Given the description of an element on the screen output the (x, y) to click on. 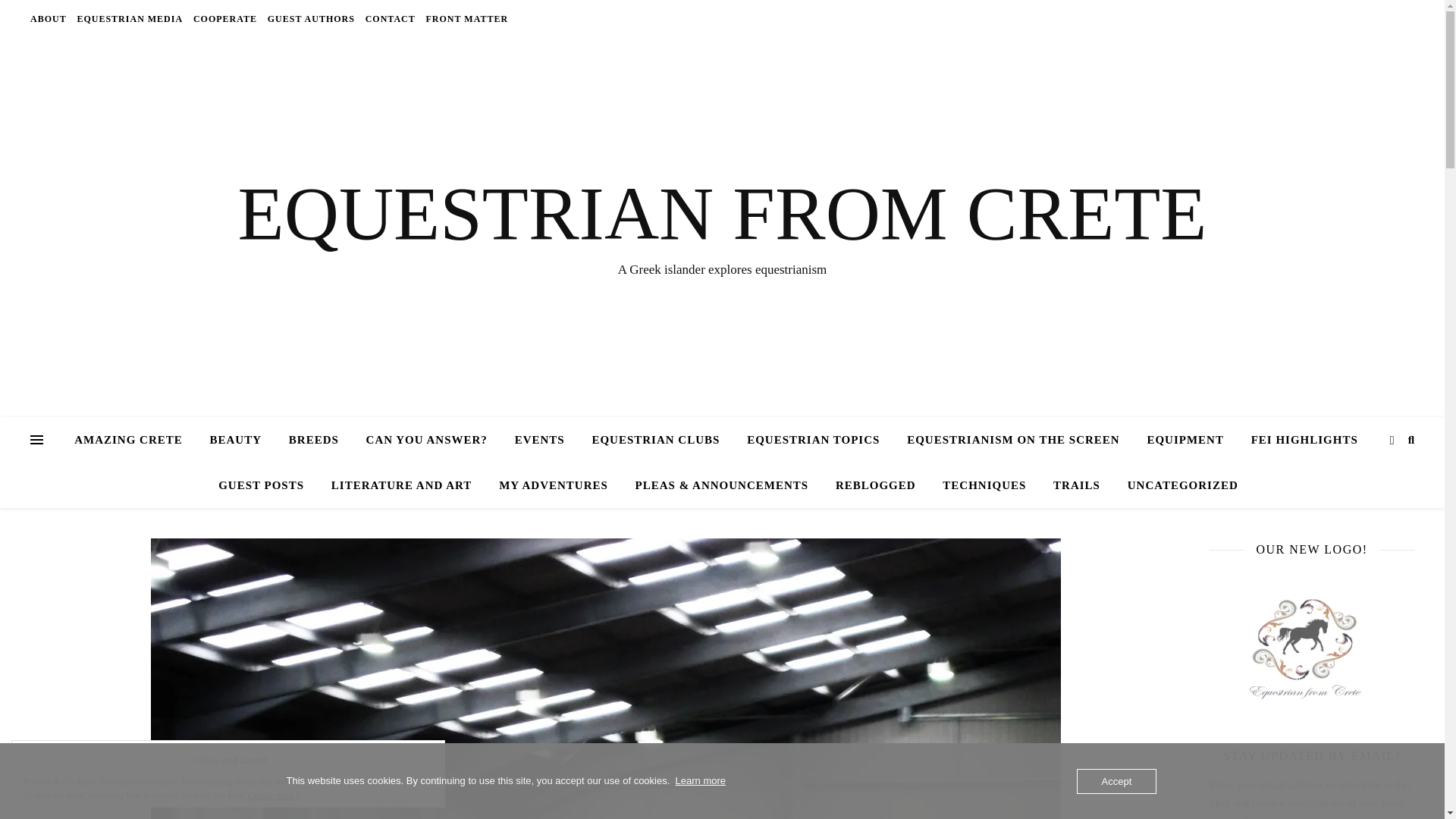
FEI HIGHLIGHTS (1304, 439)
CONTACT (390, 18)
BREEDS (313, 439)
EQUESTRIAN MEDIA (129, 18)
CAN YOU ANSWER? (426, 439)
TECHNIQUES (984, 484)
EQUESTRIAN TOPICS (813, 439)
COOPERATE (224, 18)
EQUESTRIANISM ON THE SCREEN (1013, 439)
MY ADVENTURES (553, 484)
